Given the description of an element on the screen output the (x, y) to click on. 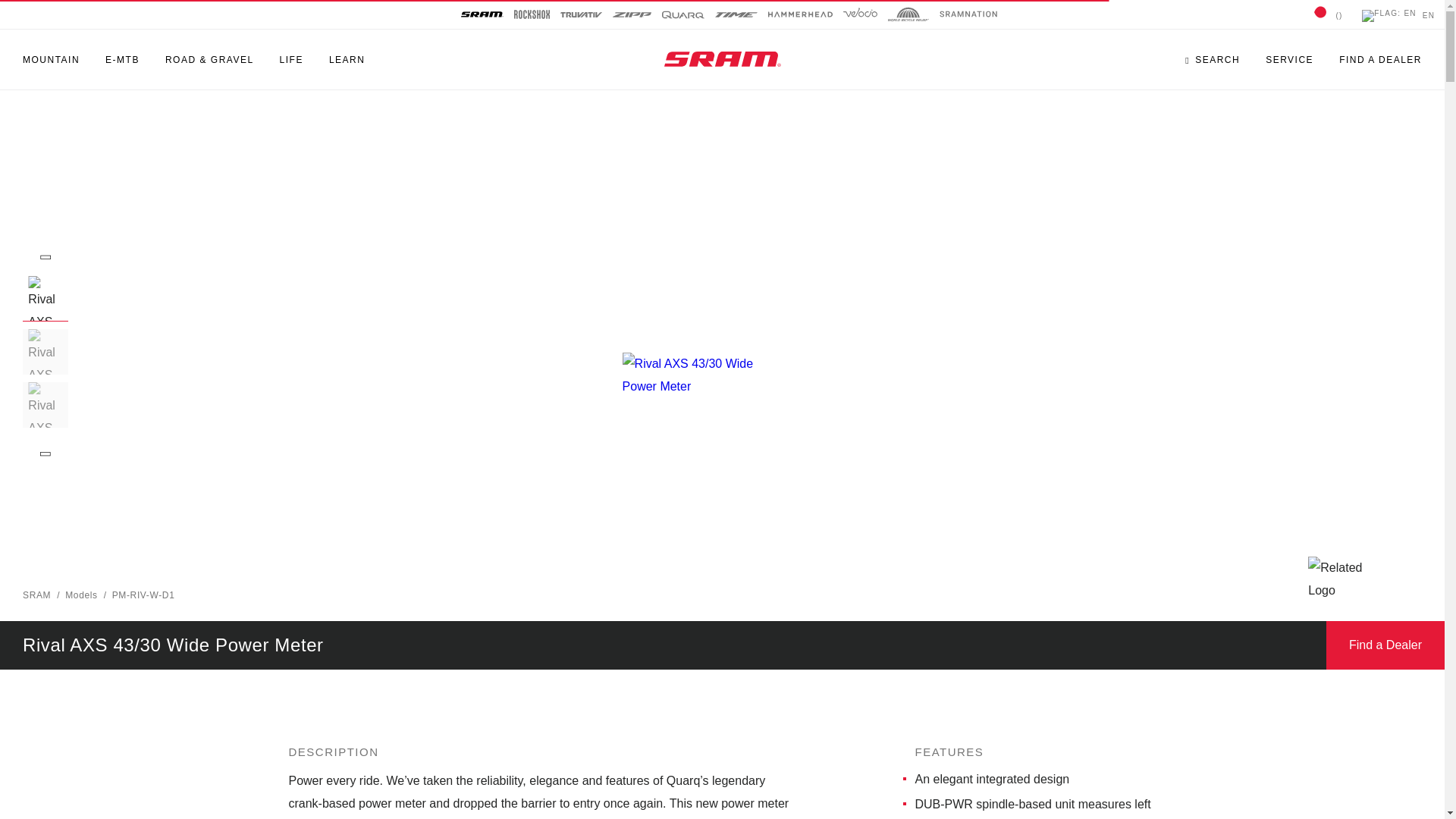
Quarq (682, 14)
EN (1397, 16)
EN Language (1397, 16)
MOUNTAIN (51, 59)
Truvativ (580, 13)
Sram (482, 14)
Cart (1320, 16)
Hammerhead (799, 14)
Sramnation (968, 18)
TIME Sport (735, 14)
Mountain Link (51, 59)
World Bicycle Relief (908, 14)
Zipp (631, 14)
Rockshox (531, 13)
Velocio (860, 14)
